Given the description of an element on the screen output the (x, y) to click on. 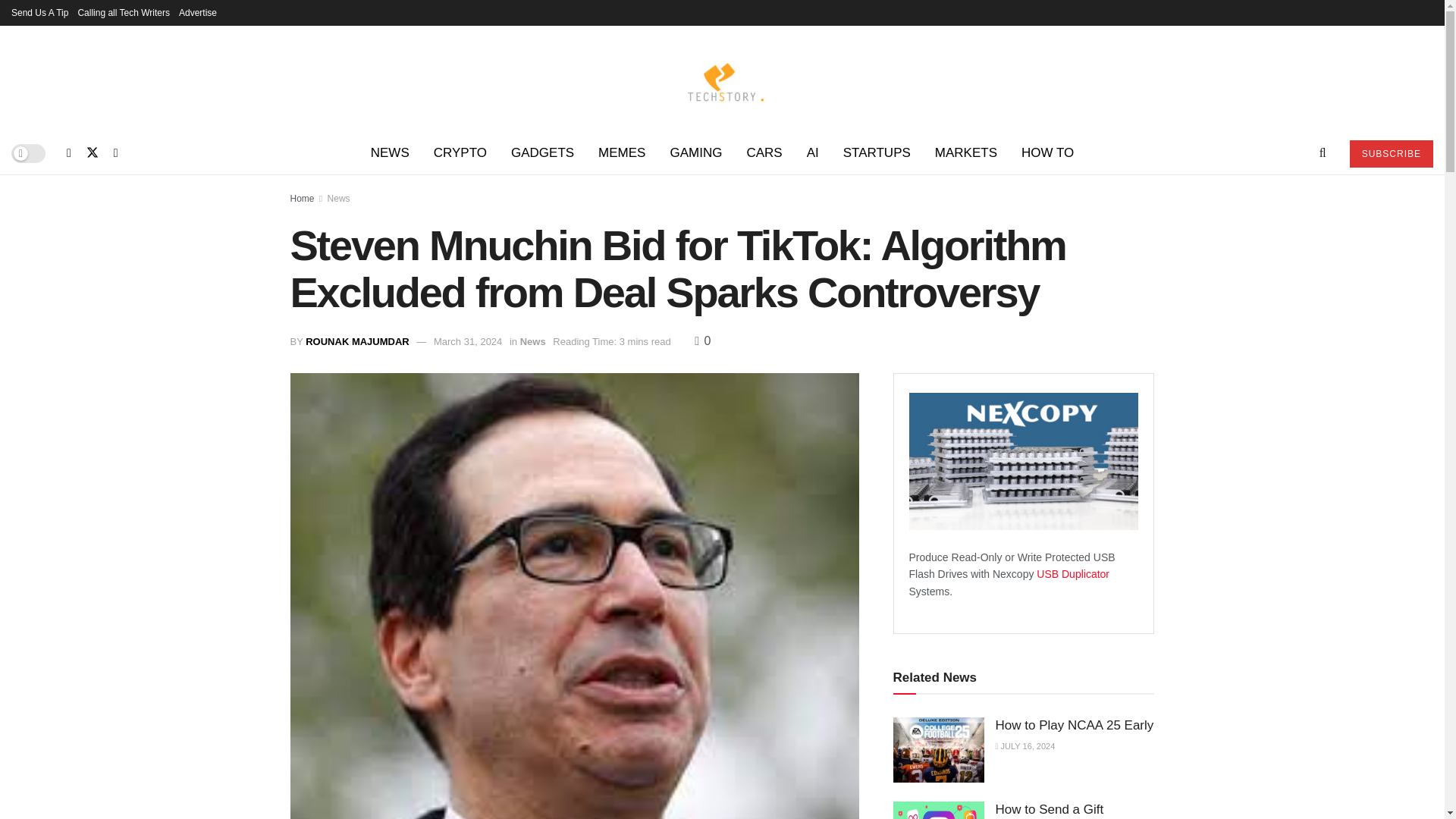
Advertise (197, 12)
GAMING (695, 152)
News (338, 198)
MEMES (622, 152)
STARTUPS (877, 152)
USB duplicator (1072, 573)
CARS (763, 152)
AI (812, 152)
Home (301, 198)
MARKETS (966, 152)
CRYPTO (460, 152)
Send Us A Tip (39, 12)
GADGETS (542, 152)
HOW TO (1047, 152)
SUBSCRIBE (1390, 153)
